Given the description of an element on the screen output the (x, y) to click on. 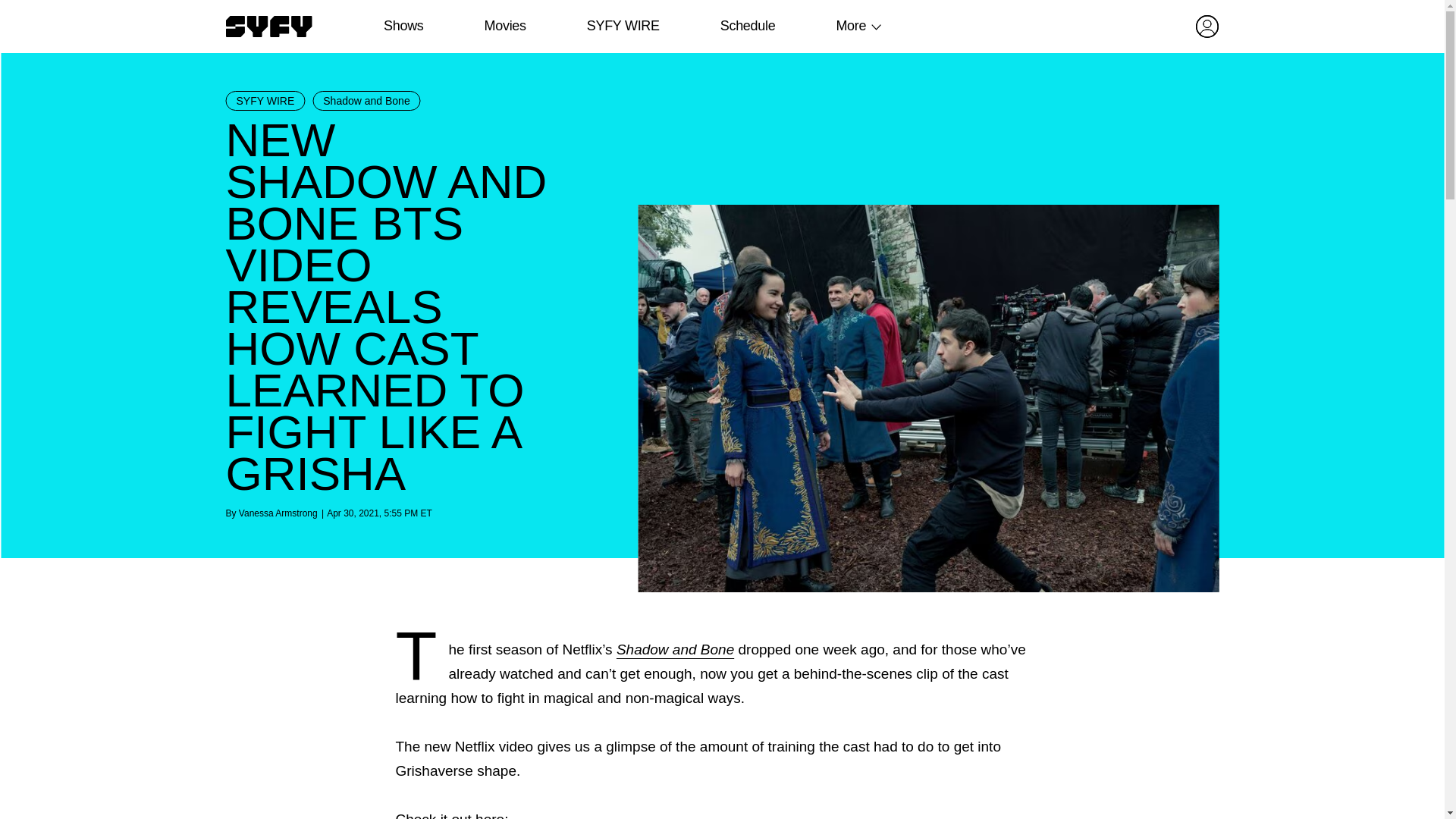
More (850, 26)
Movies (504, 26)
Shadow and Bone (674, 649)
SYFY WIRE (622, 26)
SYFY WIRE (265, 100)
Shadow and Bone (366, 100)
Shows (403, 26)
Vanessa Armstrong (277, 512)
Schedule (746, 26)
